Given the description of an element on the screen output the (x, y) to click on. 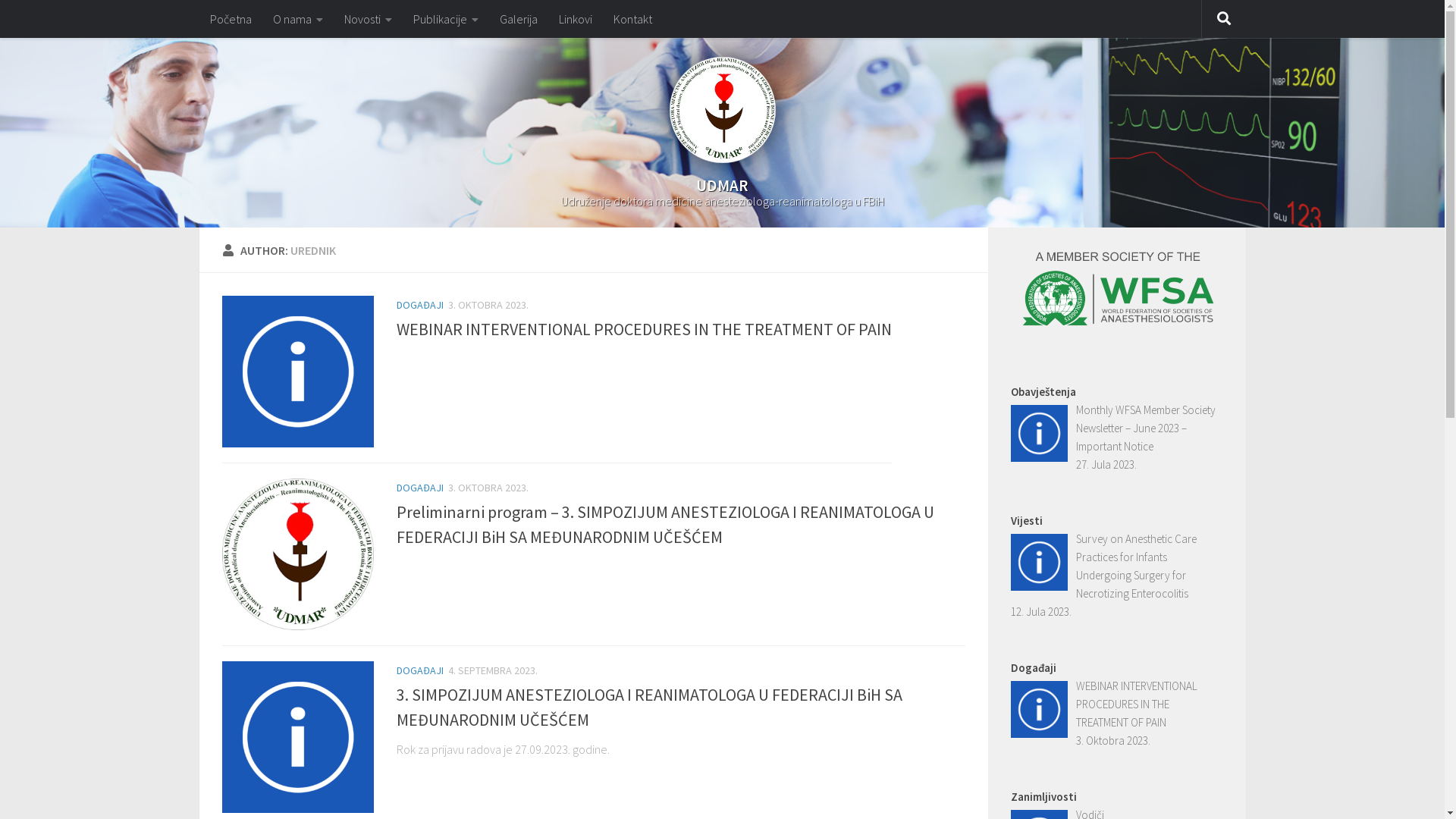
UDMAR | Home page Element type: hover (721, 109)
WEBINAR INTERVENTIONAL PROCEDURES IN THE TREATMENT OF PAIN Element type: text (643, 328)
WEBINAR INTERVENTIONAL PROCEDURES IN THE TREATMENT OF PAIN Element type: text (1136, 703)
Novosti Element type: text (367, 18)
Publikacije Element type: text (444, 18)
Linkovi Element type: text (574, 18)
Kontakt Element type: text (632, 18)
Galerija Element type: text (517, 18)
O nama Element type: text (297, 18)
